Given the description of an element on the screen output the (x, y) to click on. 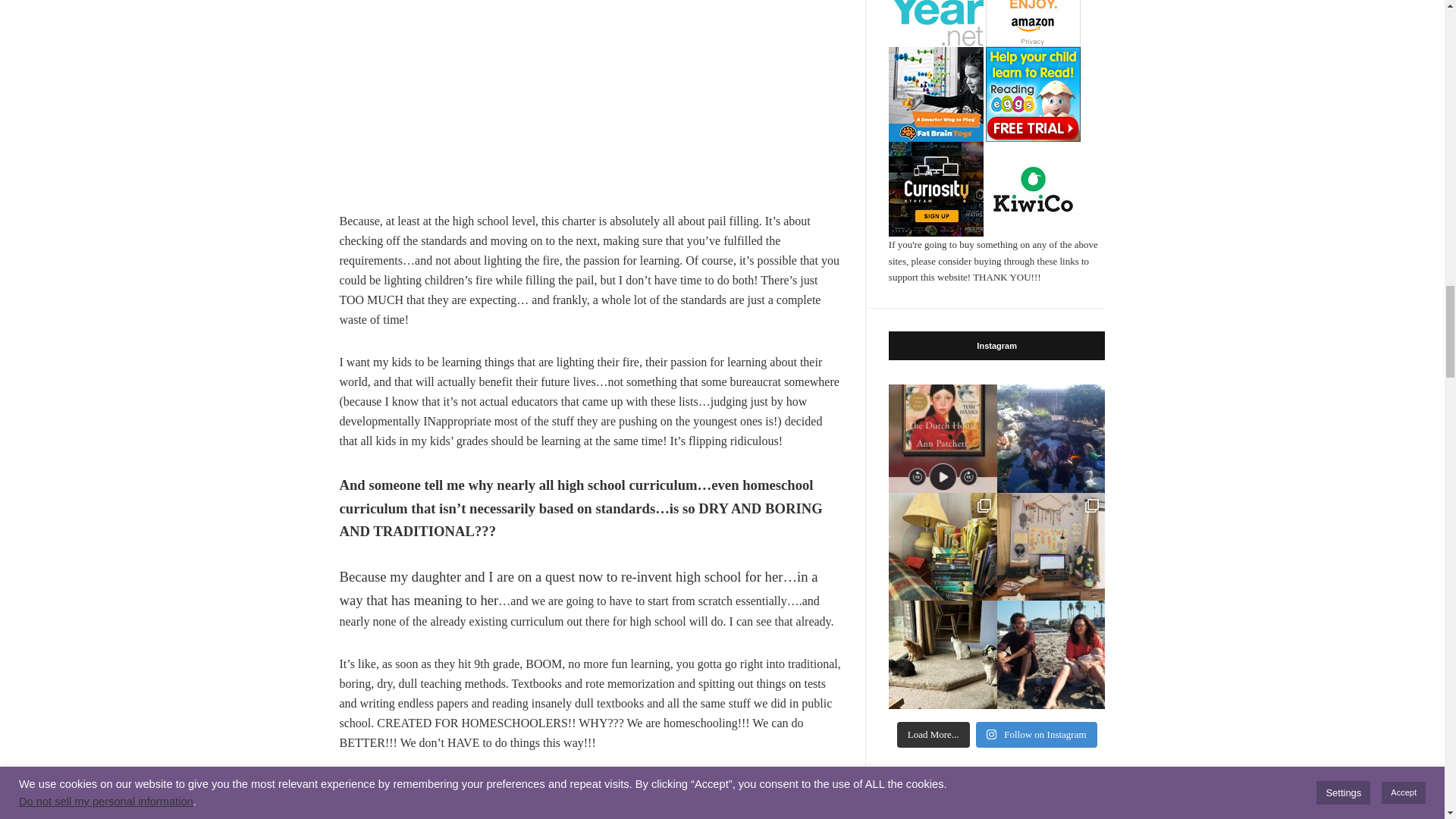
Journey to a more inspiring high school experience... 2 (590, 94)
